Given the description of an element on the screen output the (x, y) to click on. 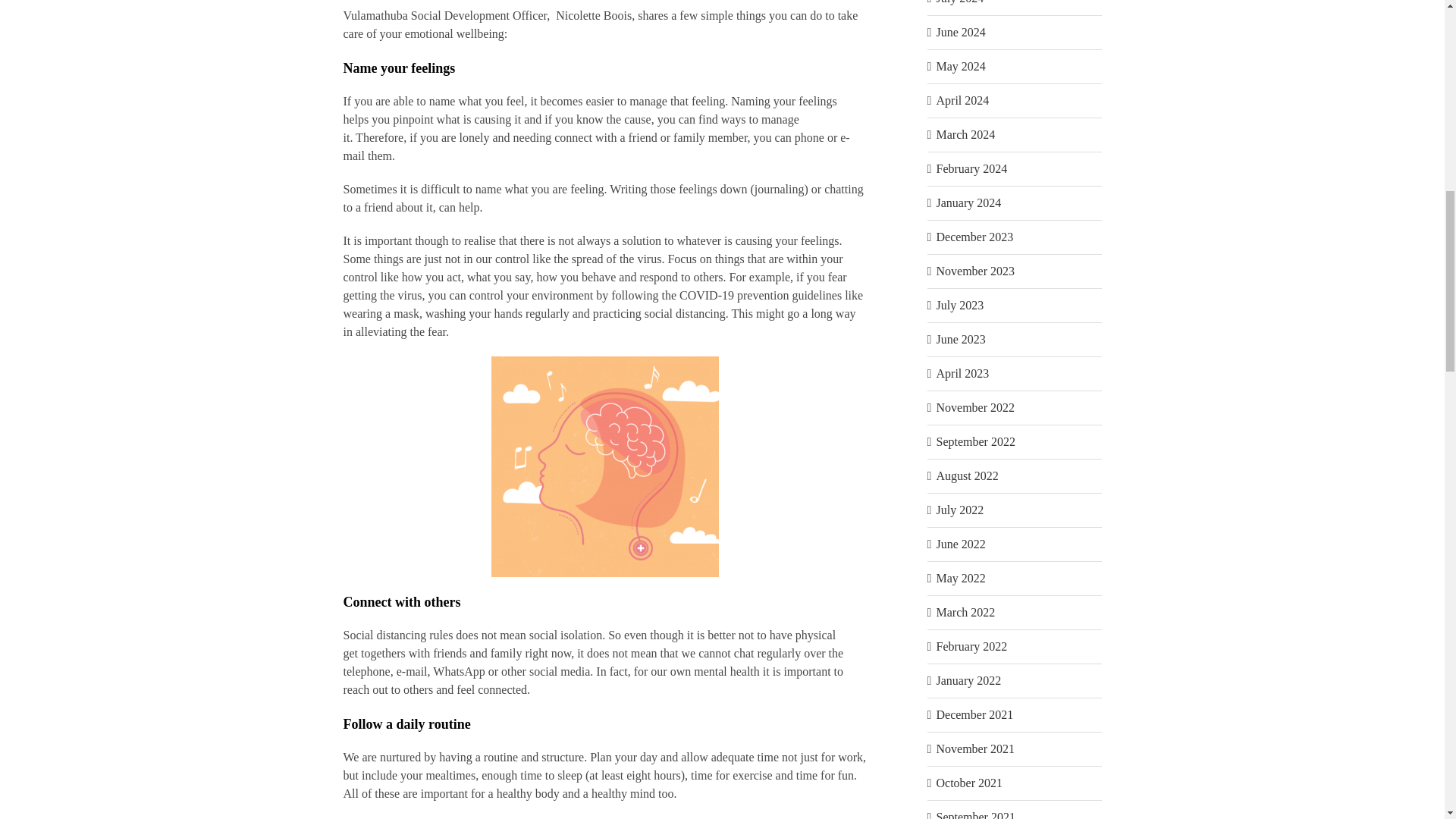
March 2024 (965, 133)
January 2024 (968, 202)
July 2024 (960, 2)
April 2024 (962, 100)
November 2023 (975, 270)
June 2024 (960, 31)
May 2024 (960, 65)
December 2023 (974, 236)
February 2024 (971, 168)
July 2023 (960, 305)
